Given the description of an element on the screen output the (x, y) to click on. 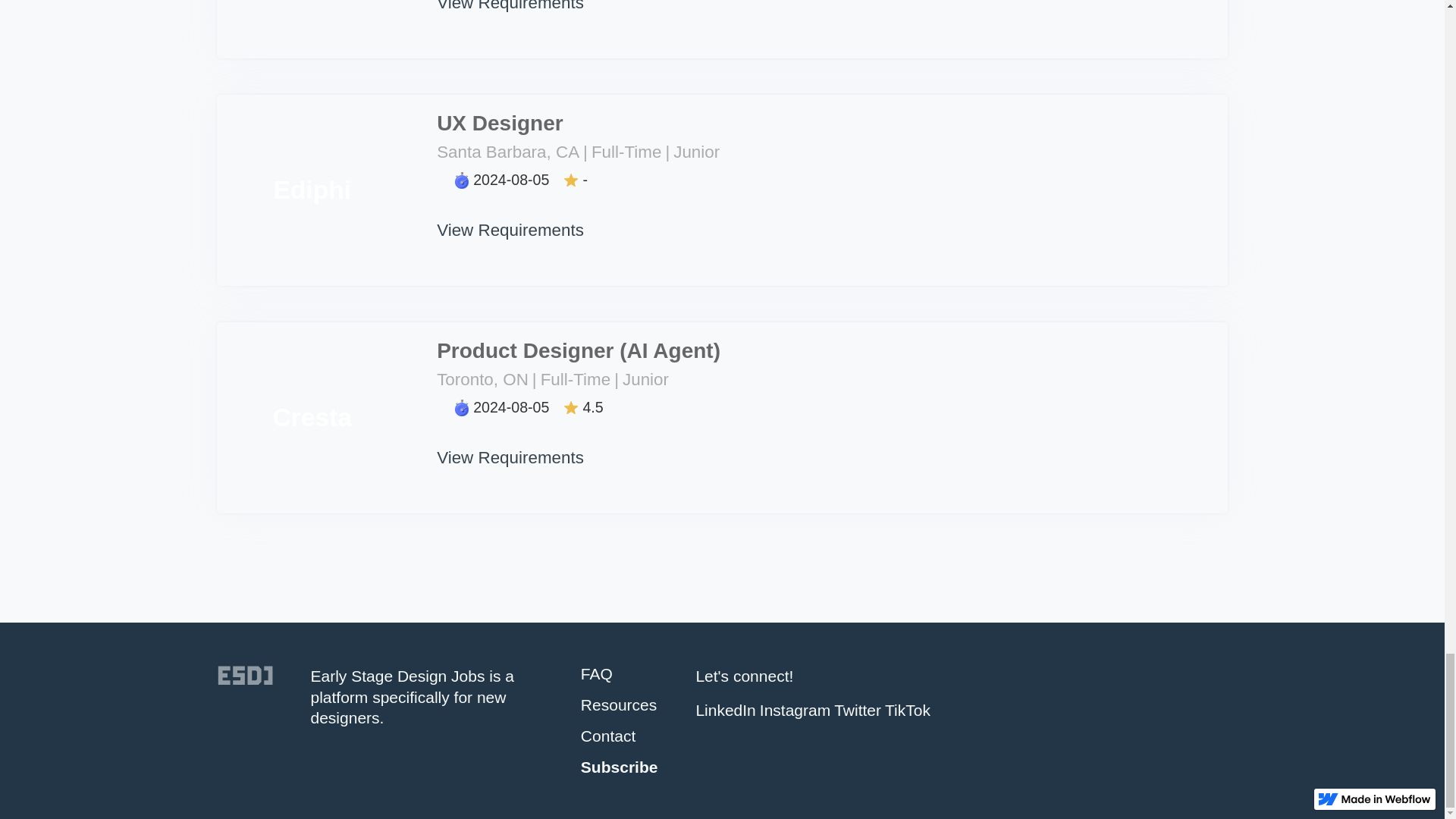
View Requirements (511, 9)
Subscribe (619, 766)
Twitter (857, 709)
View Requirements (511, 444)
Resources (619, 704)
Cresta (311, 417)
Ediphi (311, 190)
View Requirements (511, 217)
Instagram (794, 709)
UL Solutions (311, 29)
